Given the description of an element on the screen output the (x, y) to click on. 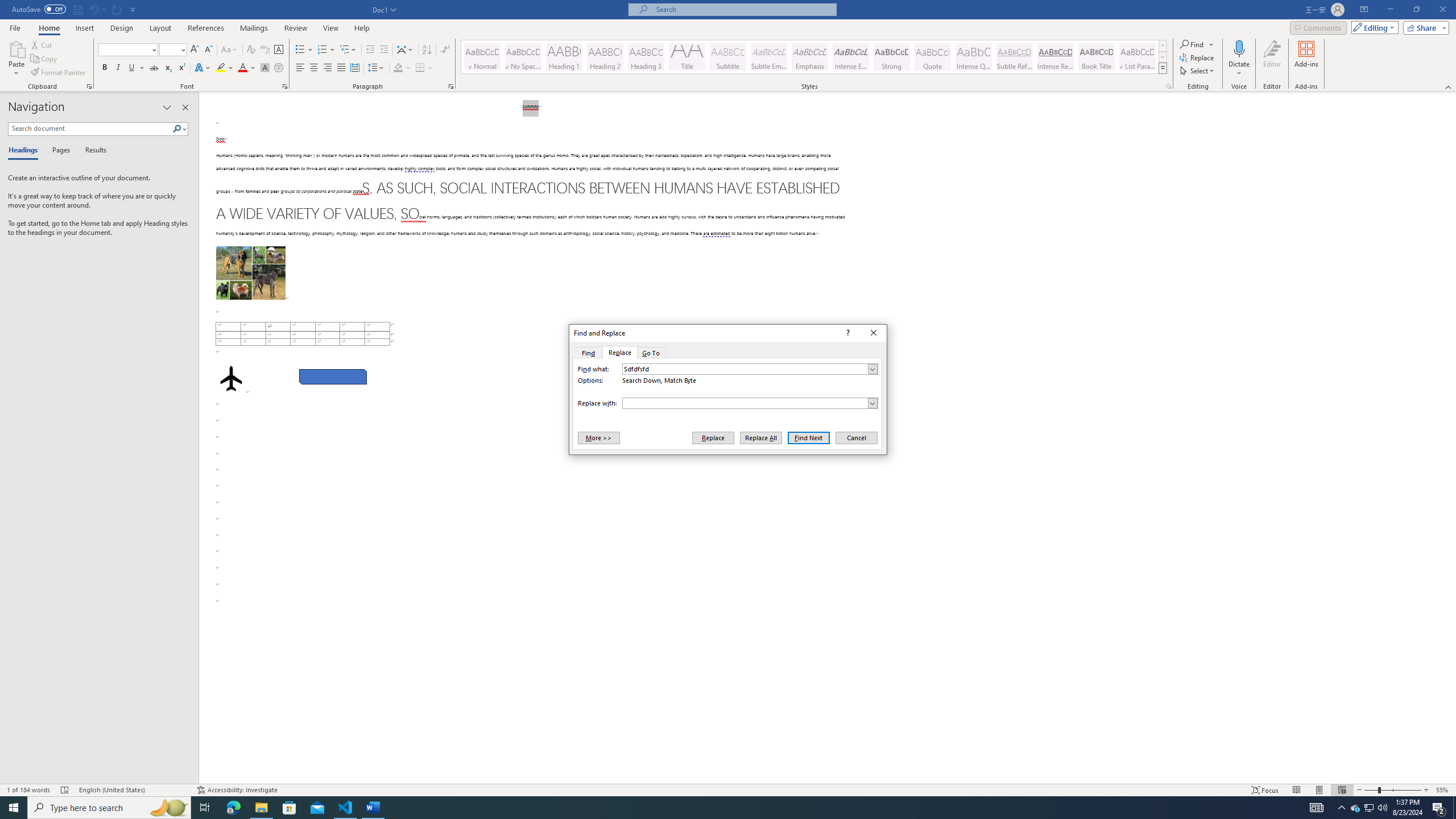
User Promoted Notification Area (1368, 807)
Cut (42, 44)
Headings (25, 150)
Font... (285, 85)
Sort... (426, 49)
Align Right (327, 67)
Align Left (300, 67)
Class: NetUIScrollBar (1450, 437)
Notification Chevron (1341, 807)
